Given the description of an element on the screen output the (x, y) to click on. 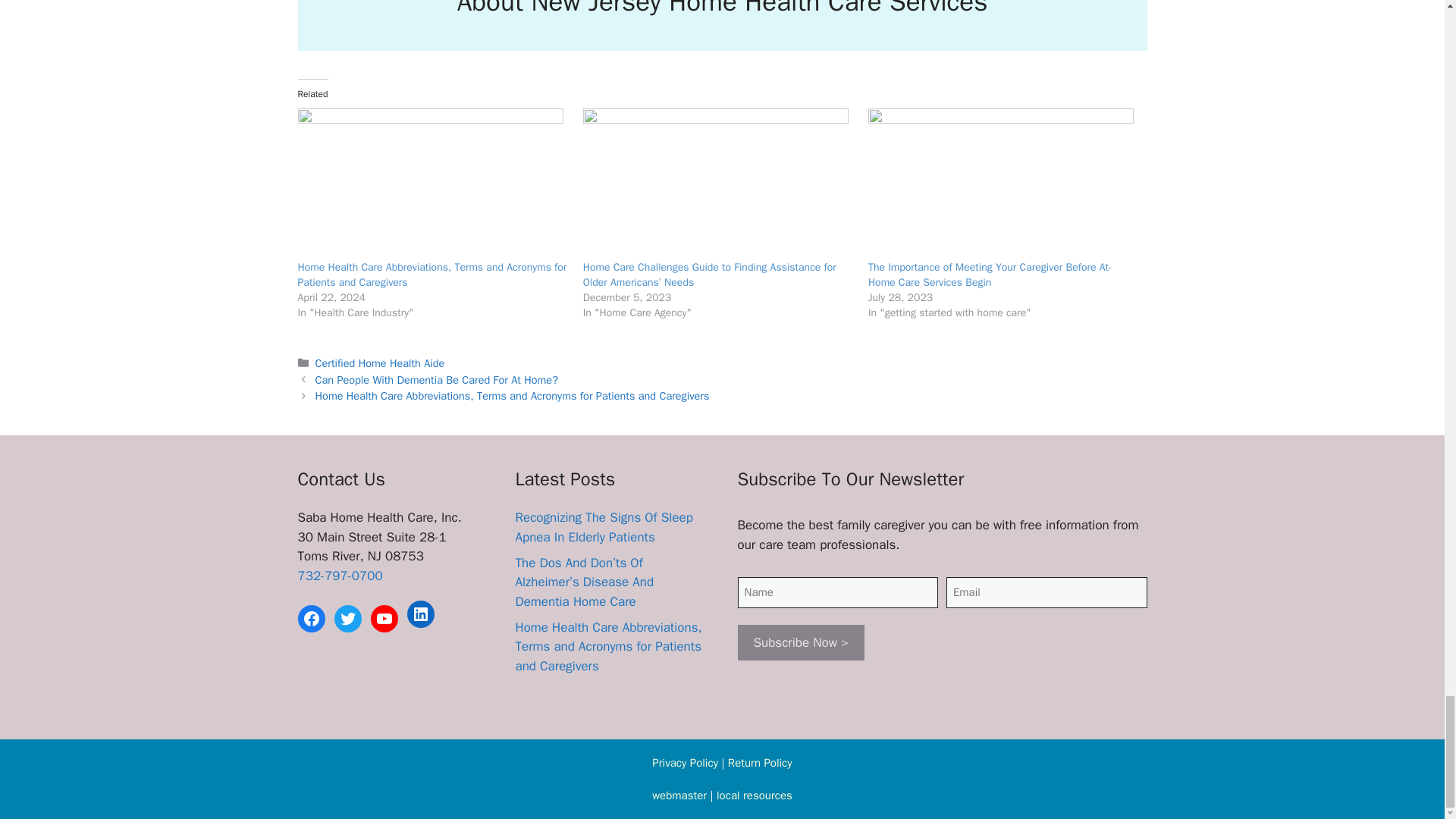
NJ website design seo search engine optimization (679, 794)
